Given the description of an element on the screen output the (x, y) to click on. 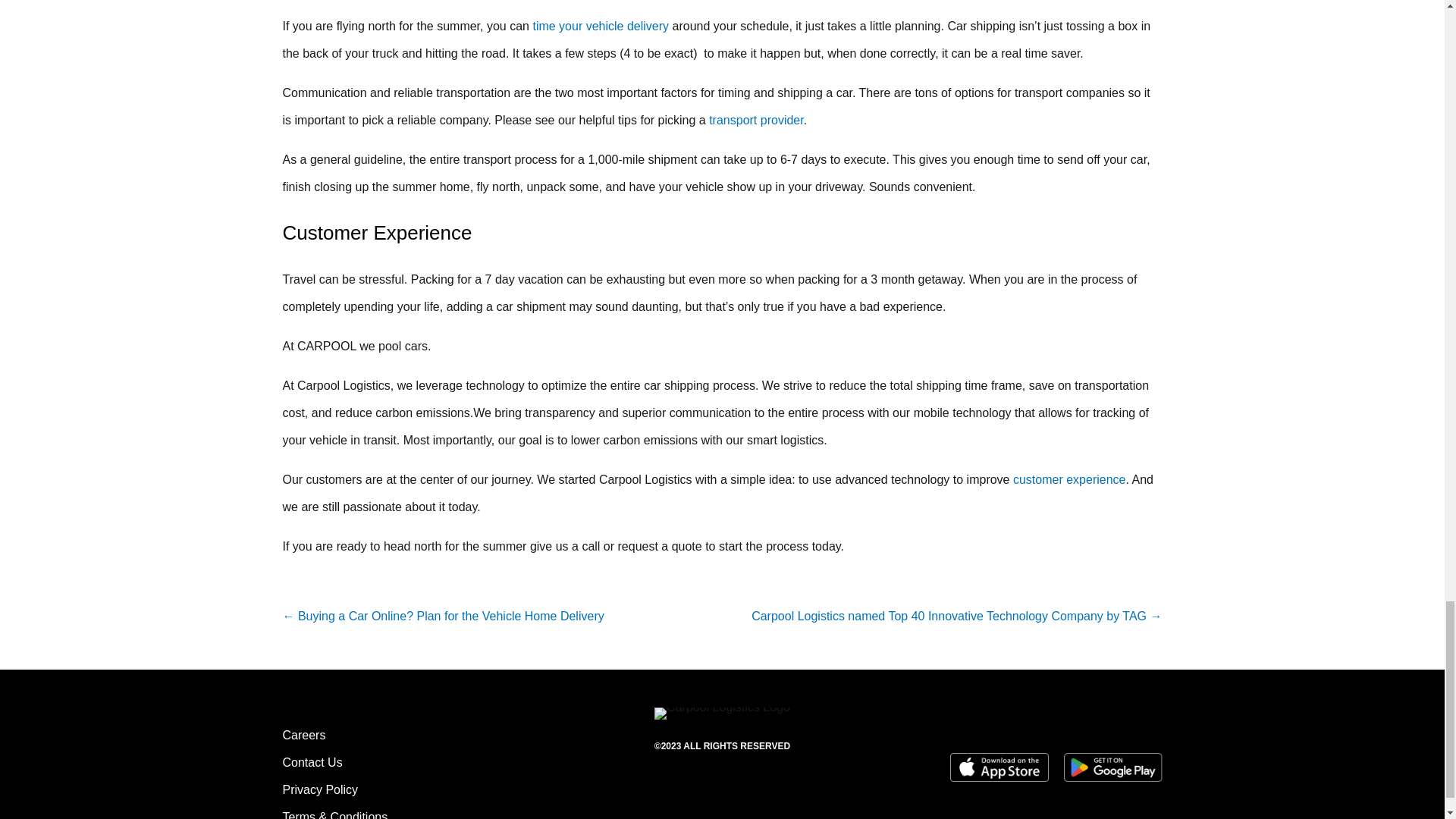
transport provider (754, 119)
Carpool Logistics Logo (721, 713)
Apple App Store Badge (999, 767)
Google Play Badge New (1112, 767)
customer experience (1069, 479)
time your vehicle delivery (600, 25)
Careers (303, 735)
